Given the description of an element on the screen output the (x, y) to click on. 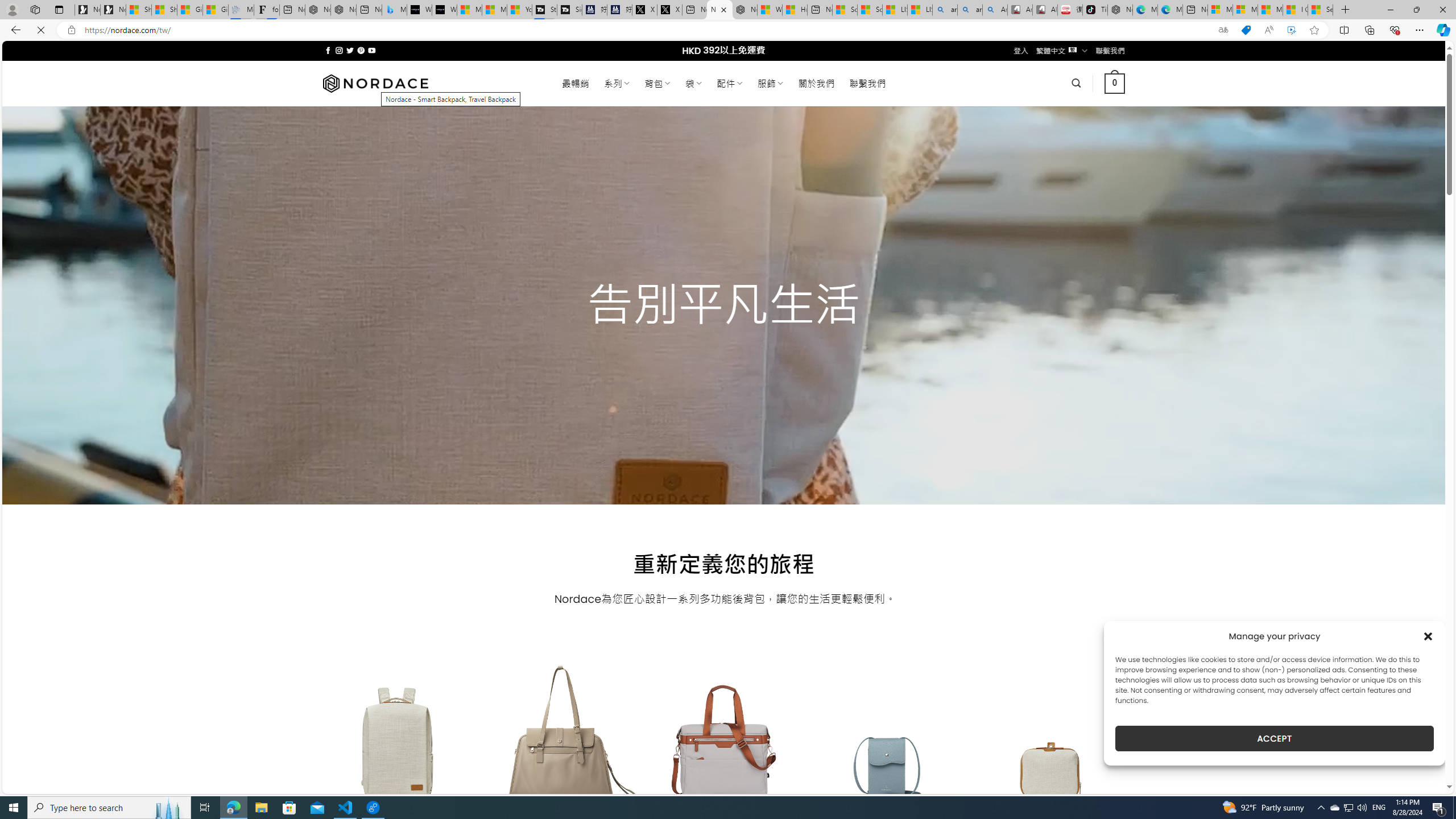
amazon - Search Images (969, 9)
Show translate options (1222, 29)
